Given the description of an element on the screen output the (x, y) to click on. 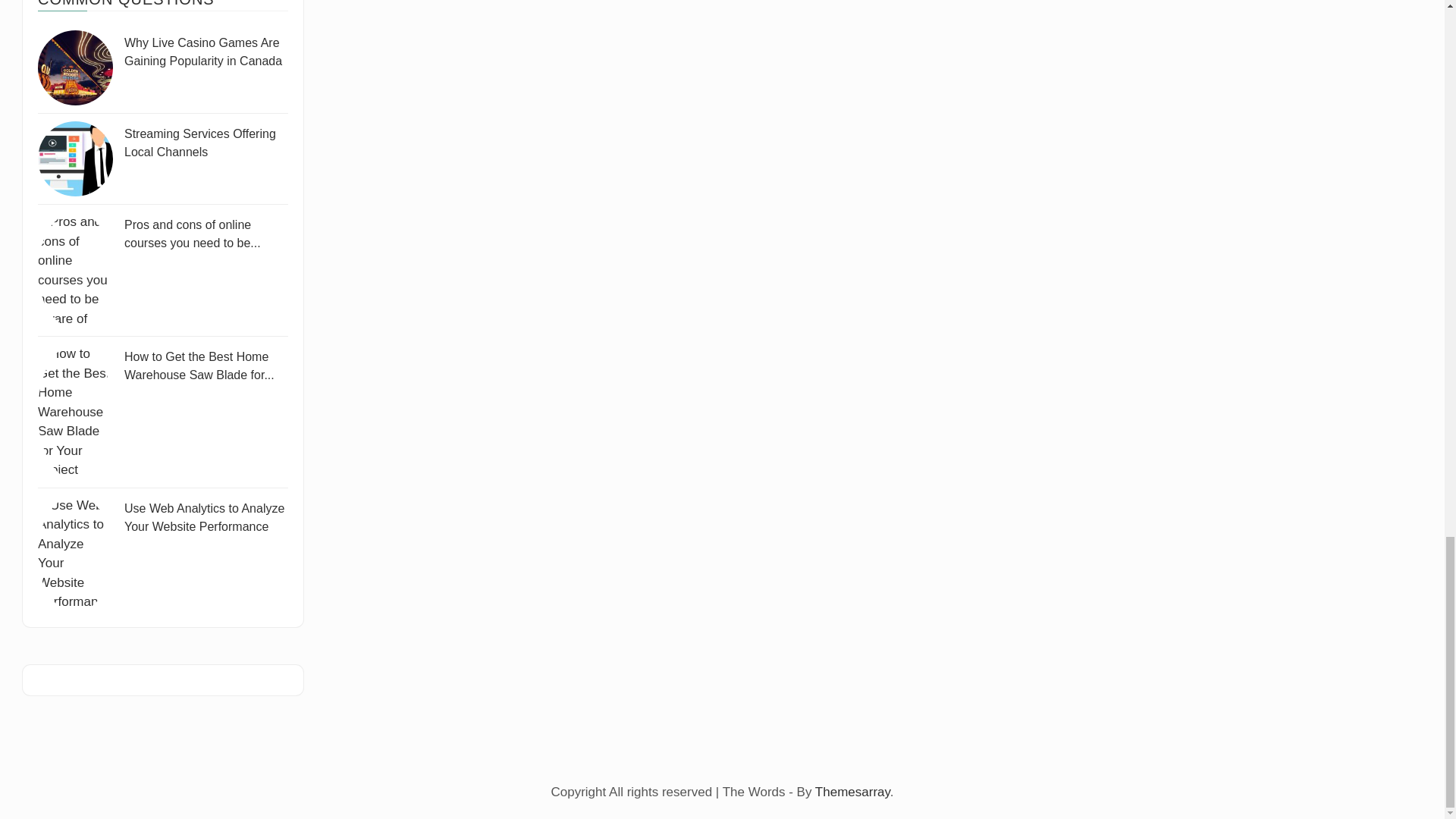
Pros and cons of online courses you need to be... (191, 233)
Why Live Casino Games Are Gaining Popularity in Canada (75, 67)
Streaming Services Offering Local Channels (75, 158)
Why Live Casino Games Are Gaining Popularity in Canada (202, 51)
Streaming Services Offering Local Channels (199, 142)
